Given the description of an element on the screen output the (x, y) to click on. 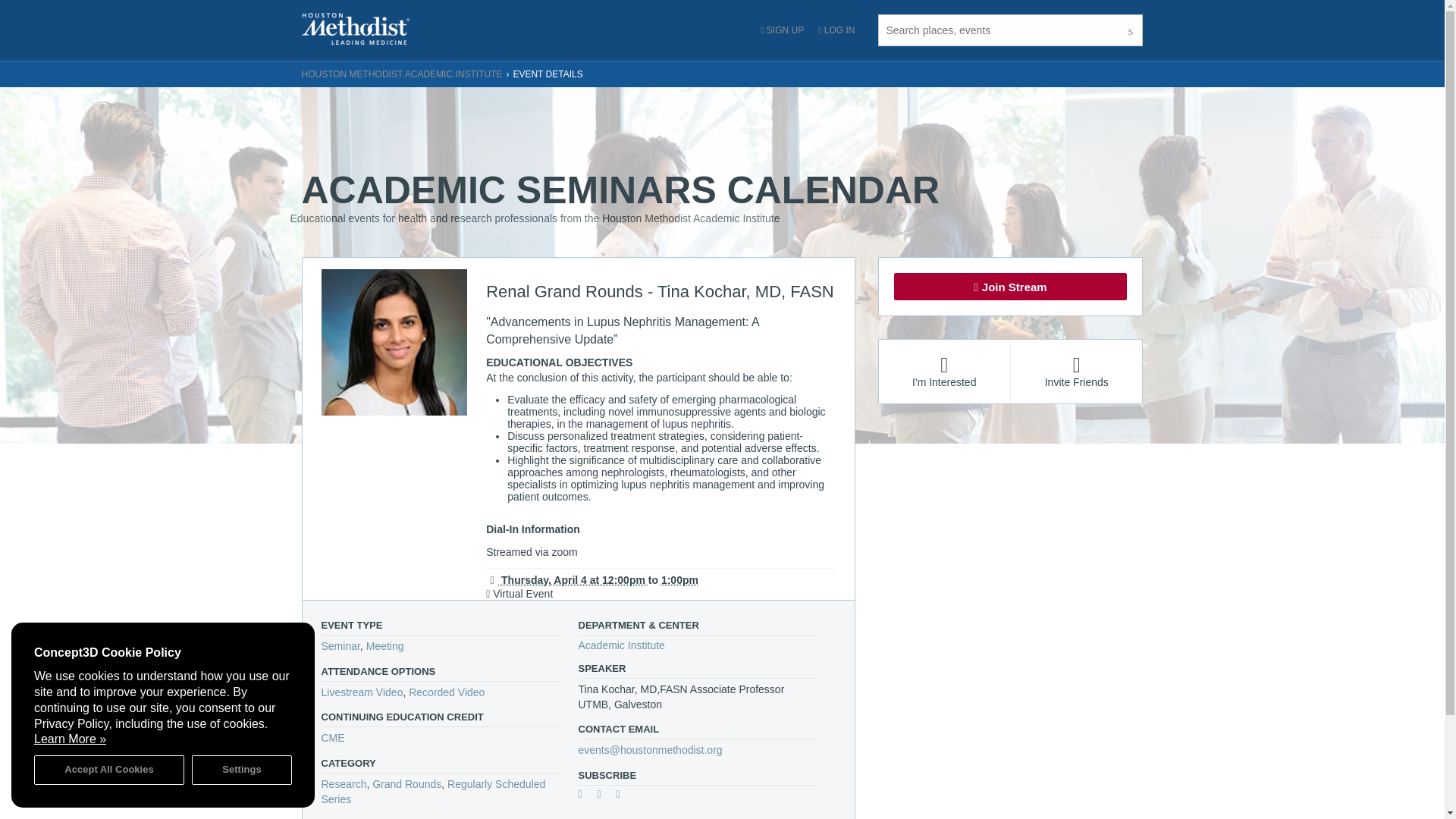
Academic Institute (620, 645)
Grand Rounds (406, 784)
Livestream Video (362, 692)
Save to iCal (604, 796)
Outlook (622, 796)
Search (1131, 30)
Regularly Scheduled Series (433, 791)
Research (343, 784)
Settings (242, 769)
SIGN UP (781, 30)
iCal (604, 796)
Google Calendar (585, 796)
LOG IN (836, 30)
HOUSTON METHODIST ACADEMIC INSTITUTE (401, 73)
Save to Google Calendar (585, 796)
